Given the description of an element on the screen output the (x, y) to click on. 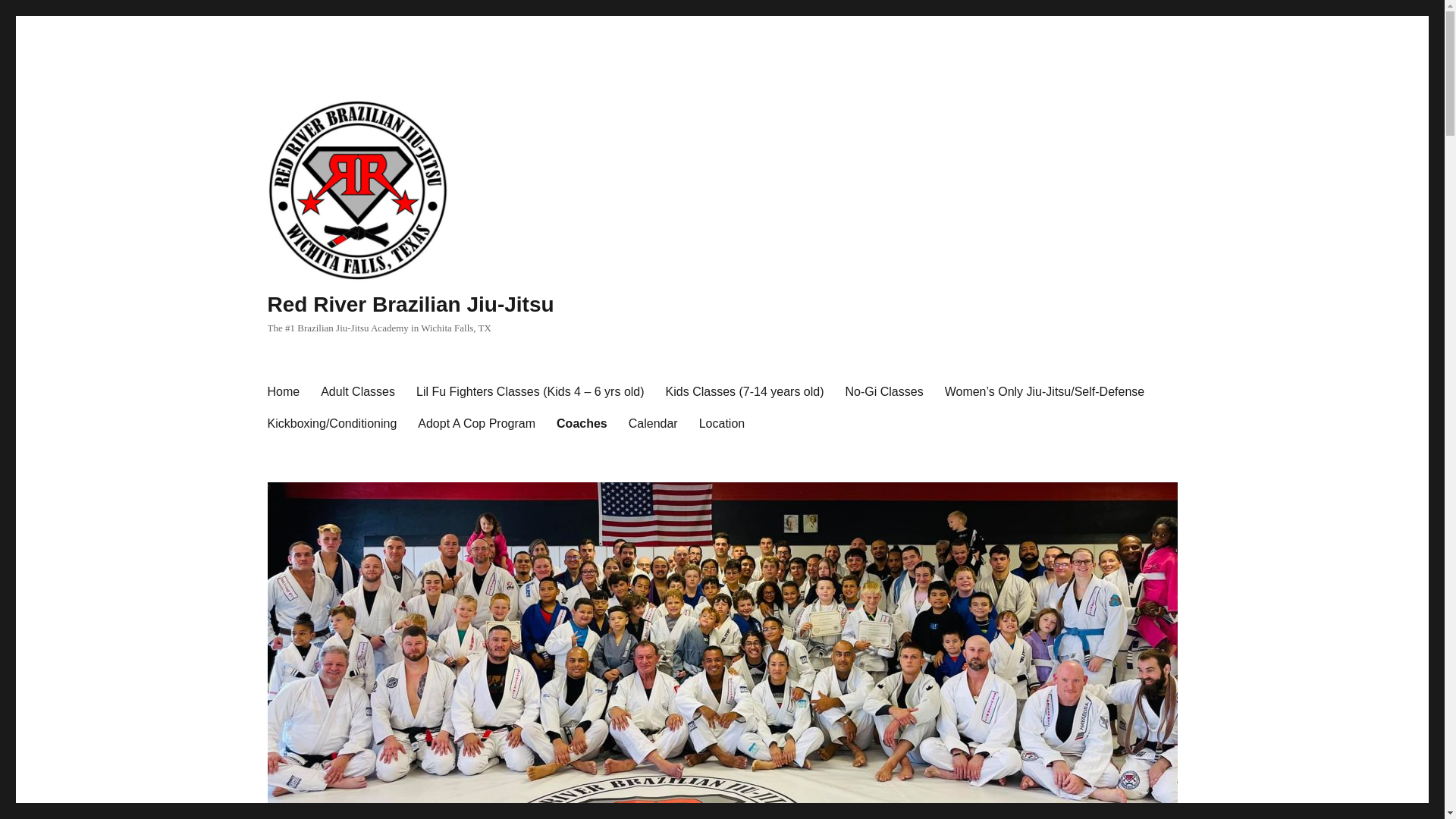
Red River Brazilian Jiu-Jitsu (409, 304)
Location (721, 423)
Adult Classes (358, 391)
No-Gi Classes (884, 391)
Calendar (652, 423)
Adopt A Cop Program (476, 423)
Home (283, 391)
Coaches (581, 423)
